Given the description of an element on the screen output the (x, y) to click on. 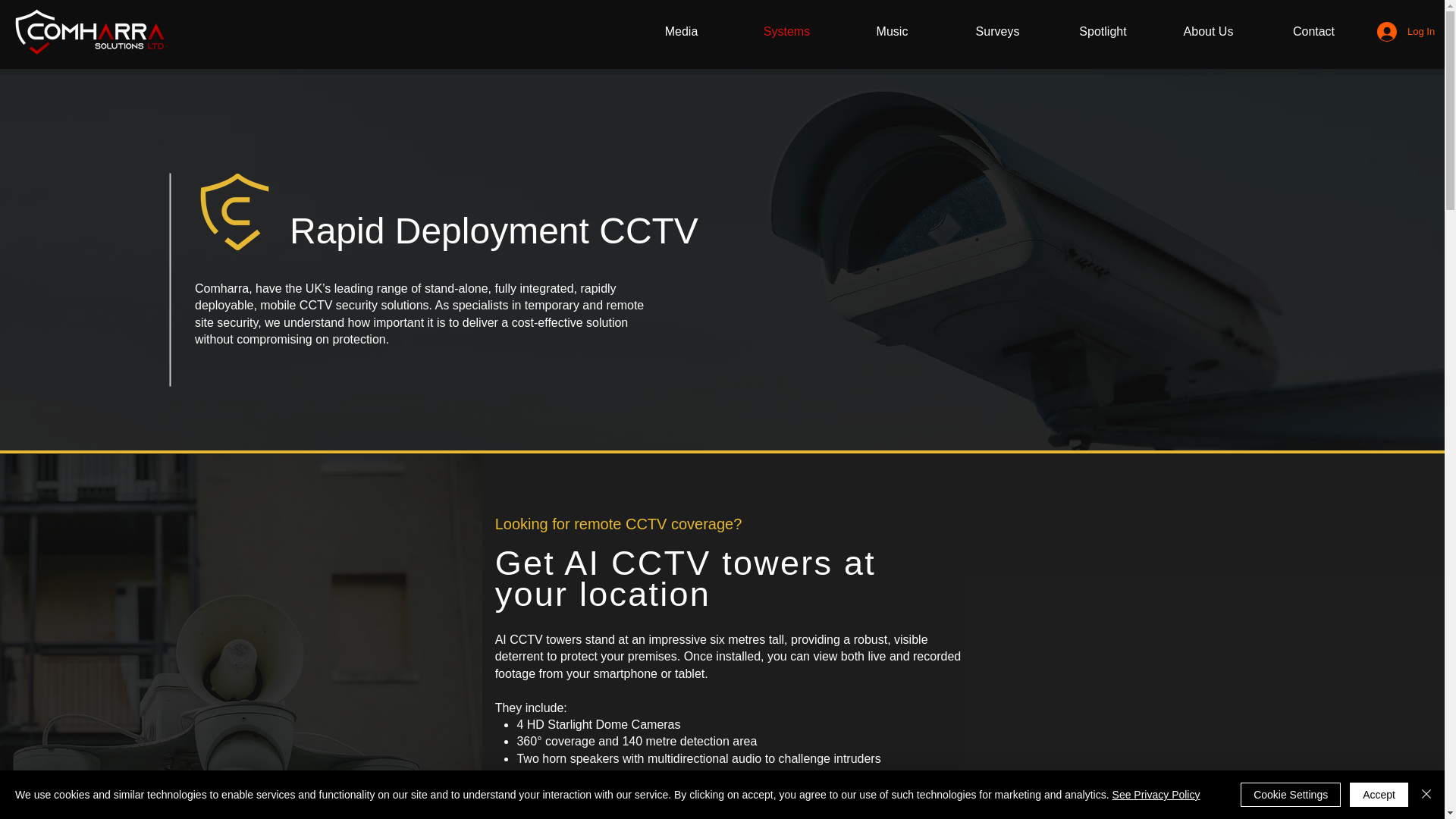
Spotlight (1102, 31)
Comharra Solution LTD (89, 31)
Contact (1313, 31)
About Us (1208, 31)
Systems (786, 31)
Music (892, 31)
Log In (1391, 31)
Media (680, 31)
Surveys (996, 31)
